Given the description of an element on the screen output the (x, y) to click on. 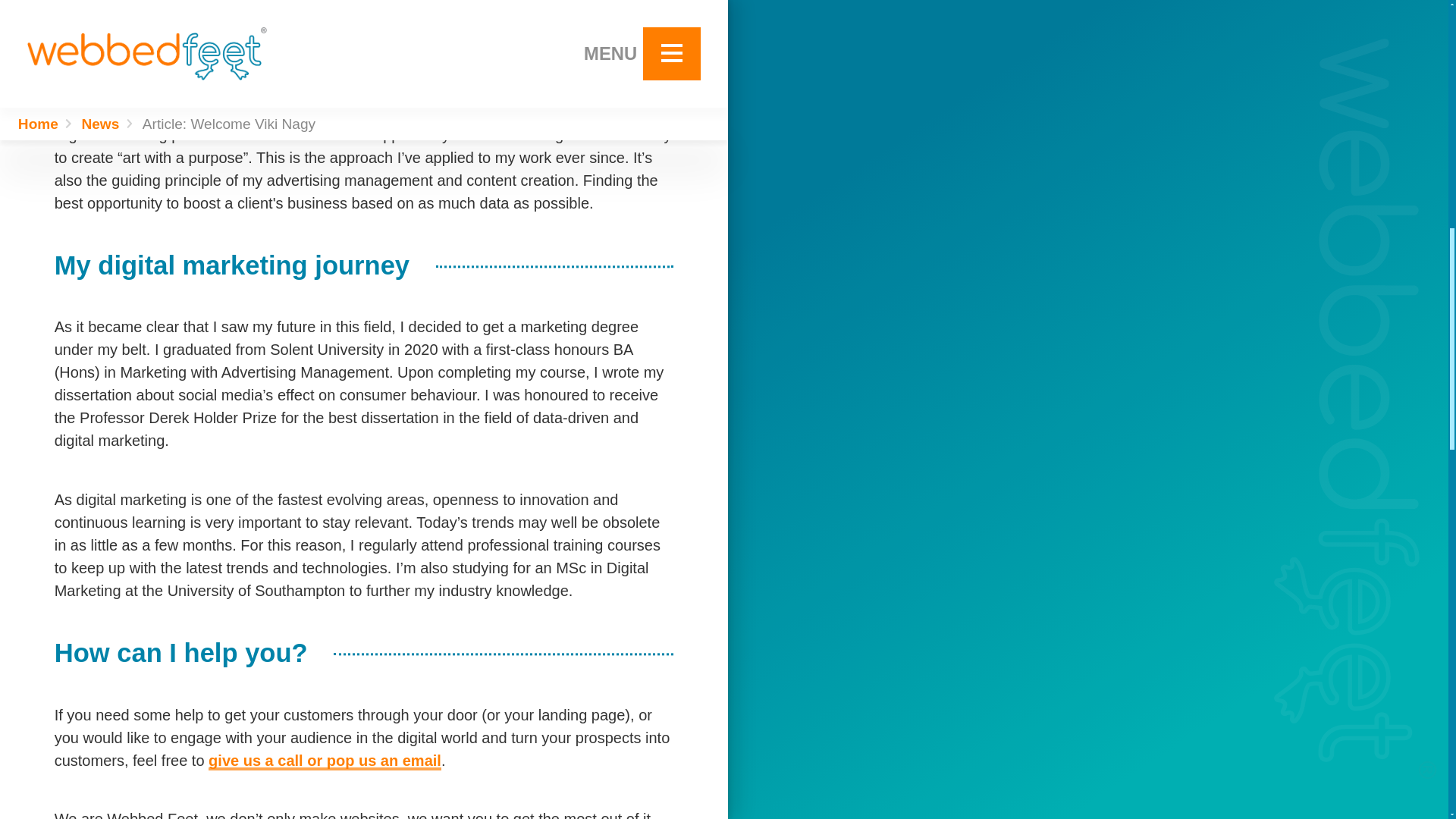
give us a call or pop us an email (324, 760)
